Given the description of an element on the screen output the (x, y) to click on. 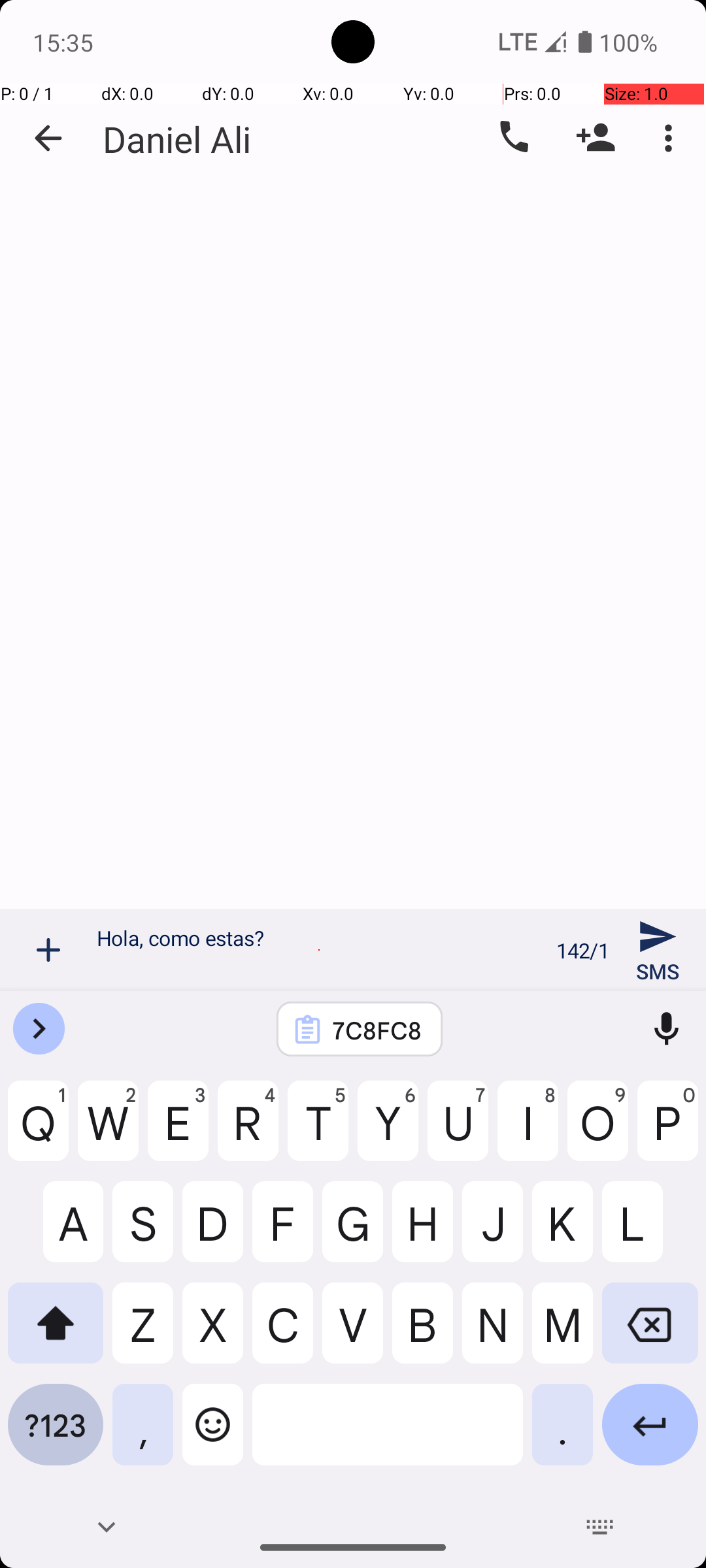
Atrás Element type: android.widget.ImageButton (48, 138)
Daniel Ali Element type: android.widget.TextView (176, 138)
Marcar número Element type: android.widget.Button (512, 137)
Añadir persona Element type: android.widget.Button (595, 137)
Archivo adjunto Element type: android.widget.ImageView (48, 949)
Hola, como estas?
 Element type: android.widget.EditText (318, 949)
142/1 Element type: android.widget.TextView (582, 950)
7C8FC8 Element type: android.widget.TextView (376, 1029)
